Given the description of an element on the screen output the (x, y) to click on. 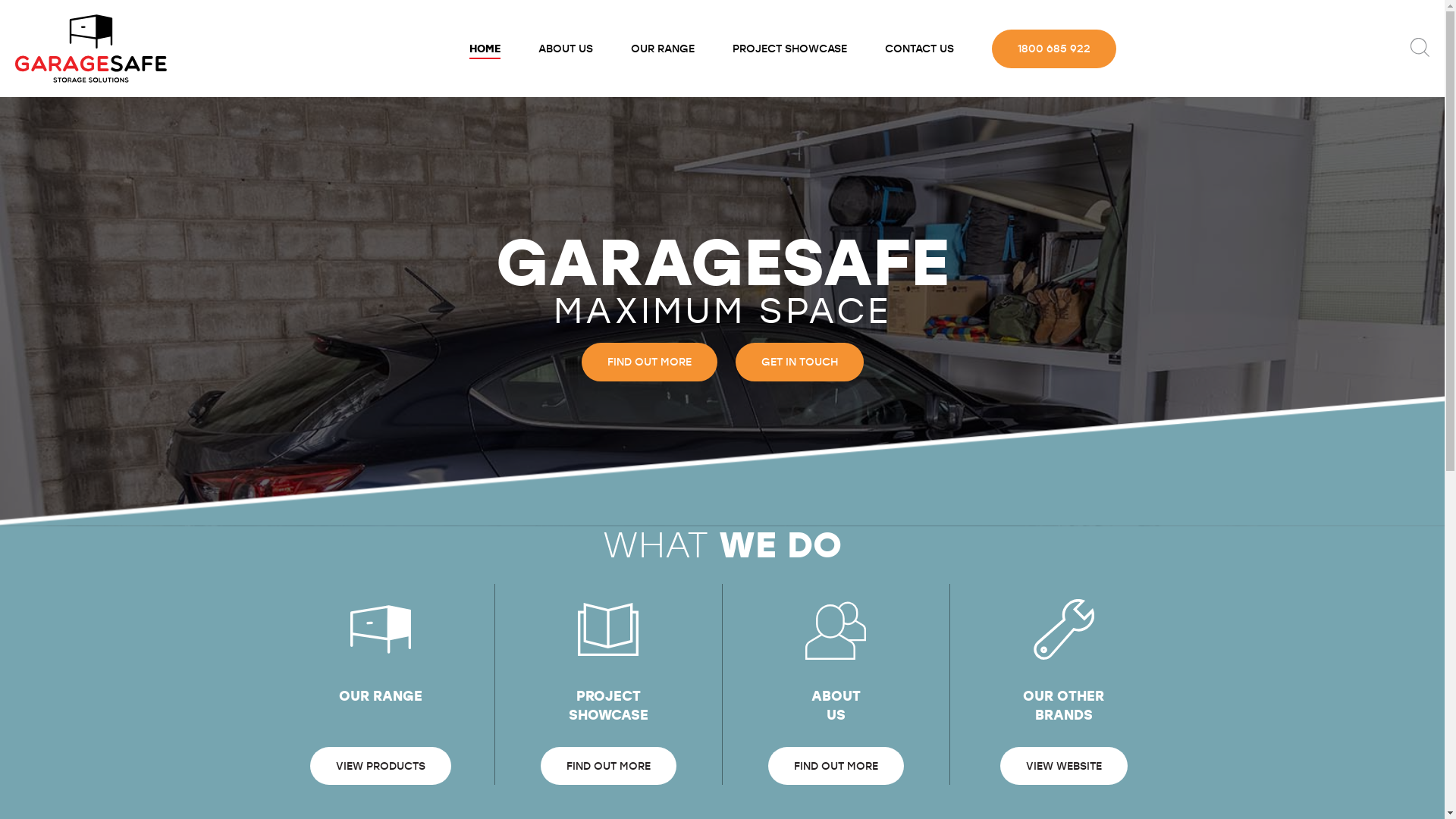
OUR OTHER
BRANDS
VIEW WEBSITE Element type: text (1062, 691)
ABOUT US Element type: text (564, 48)
CONTACT US Element type: text (919, 48)
GARAGESAFE Element type: text (90, 48)
OUR RANGE Element type: text (661, 48)
FIND OUT MORE Element type: text (648, 361)
ABOUT
US
FIND OUT MORE Element type: text (834, 691)
GET IN TOUCH Element type: text (799, 361)
PROJECT
SHOWCASE
FIND OUT MORE Element type: text (607, 691)
HOME Element type: text (484, 48)
PROJECT SHOWCASE Element type: text (788, 48)
OUR RANGE
VIEW PRODUCTS Element type: text (379, 691)
1800 685 922 Element type: text (1053, 48)
